Given the description of an element on the screen output the (x, y) to click on. 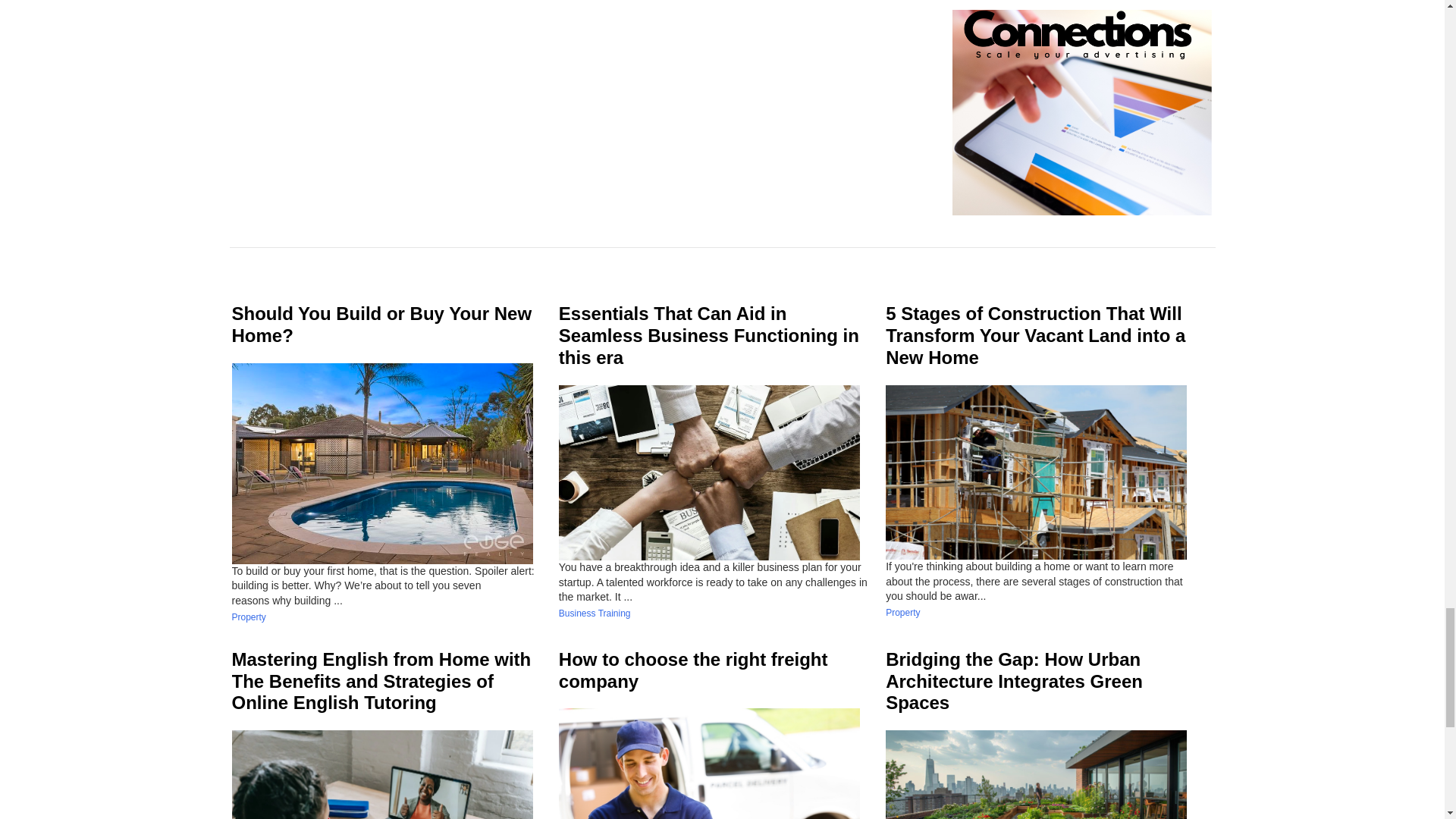
Should You Build or Buy Your New Home? (381, 324)
How to choose the right freight company (693, 670)
